Given the description of an element on the screen output the (x, y) to click on. 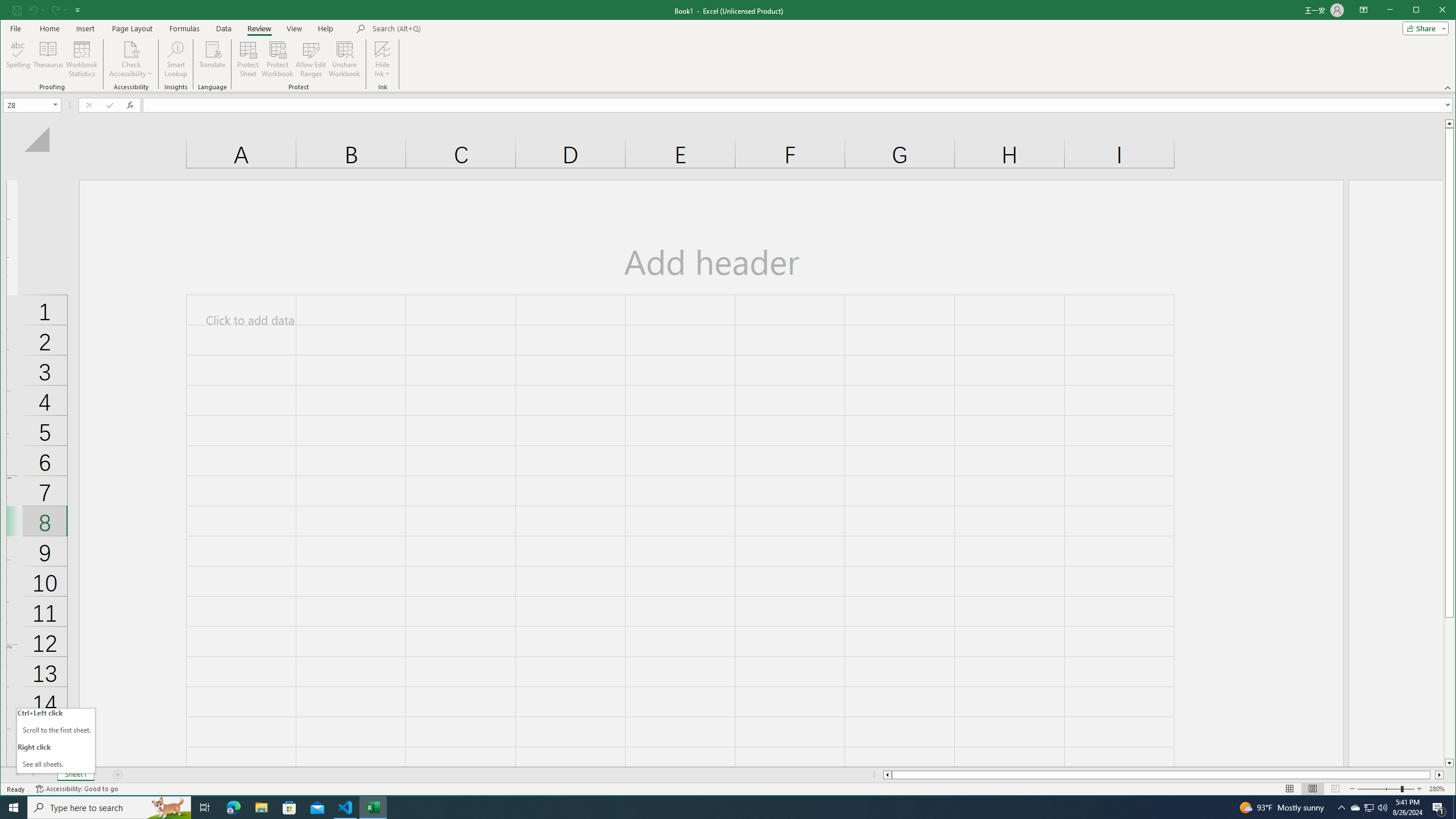
Start (13, 807)
Unshare Workbook (344, 59)
File Explorer (261, 807)
Check Accessibility (1355, 807)
Show desktop (130, 48)
Action Center, 1 new notification (1454, 807)
